Given the description of an element on the screen output the (x, y) to click on. 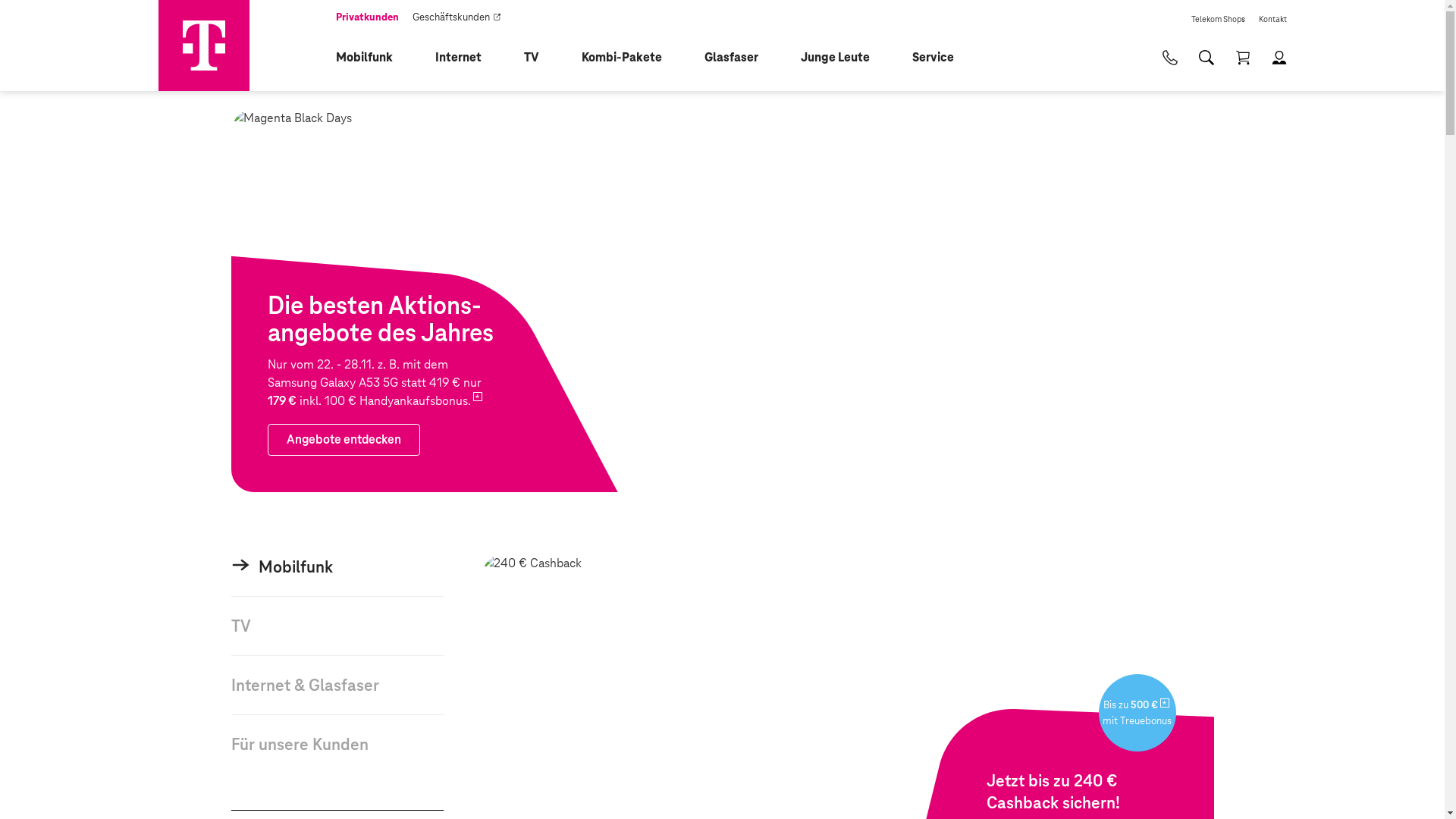
Angebote entdecken Element type: text (342, 439)
TV Element type: text (539, 57)
Kontakt Element type: text (1271, 14)
Mobilfunk Element type: text (372, 57)
Service Element type: text (941, 57)
Telekom Shops Element type: text (1218, 14)
Internet Element type: text (467, 57)
Angebote entdecken Element type: text (721, 300)
Junge Leute Element type: text (844, 57)
Kombi-Pakete Element type: text (629, 57)
Glasfaser Element type: text (739, 57)
Privatkunden Element type: text (367, 14)
